Given the description of an element on the screen output the (x, y) to click on. 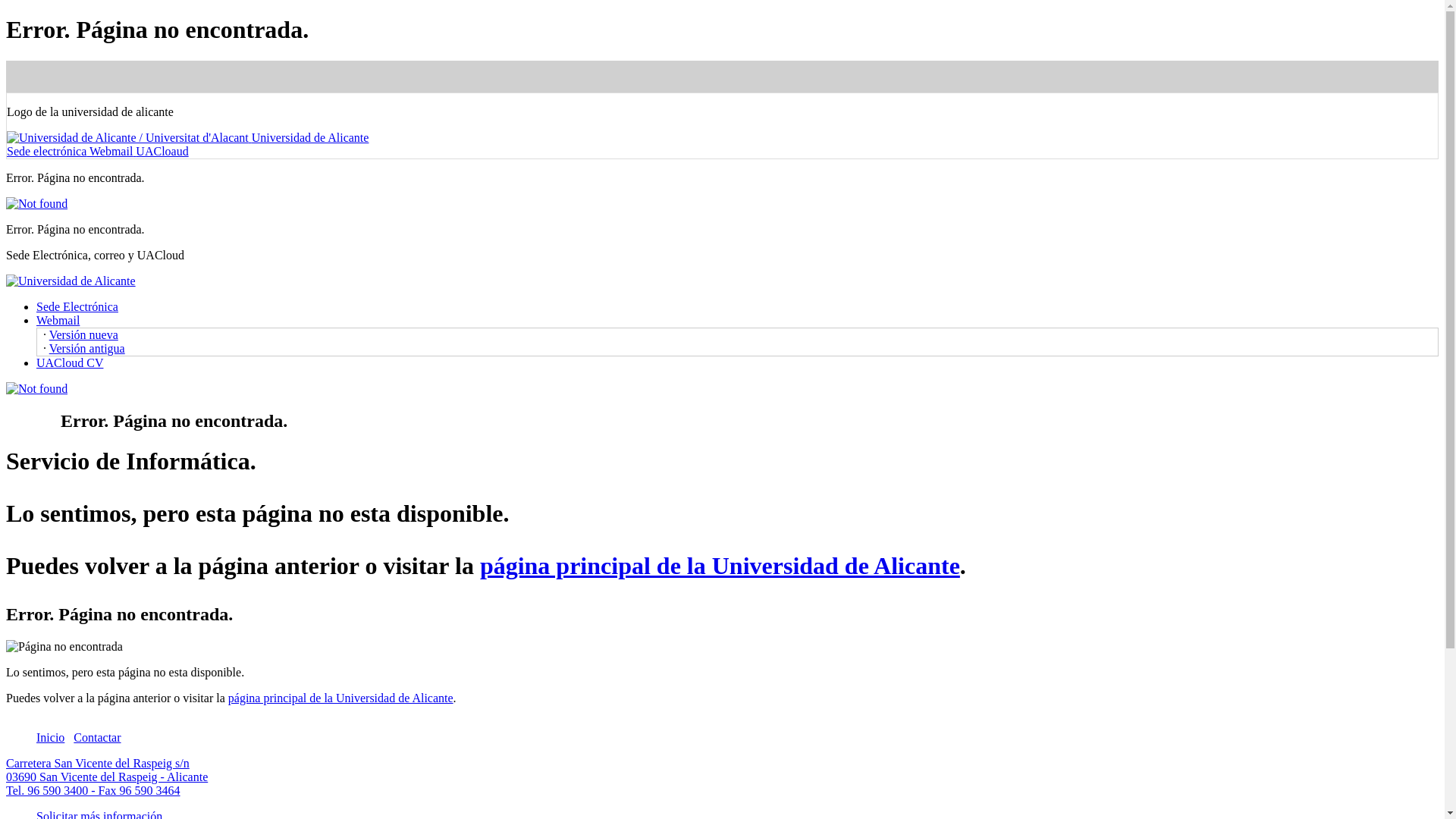
Inicio (50, 744)
Webmail (58, 319)
Webmail (111, 151)
Contactar (97, 744)
UACloud CV (69, 362)
UACloaud (161, 151)
Universidad de Alicante (187, 137)
